Given the description of an element on the screen output the (x, y) to click on. 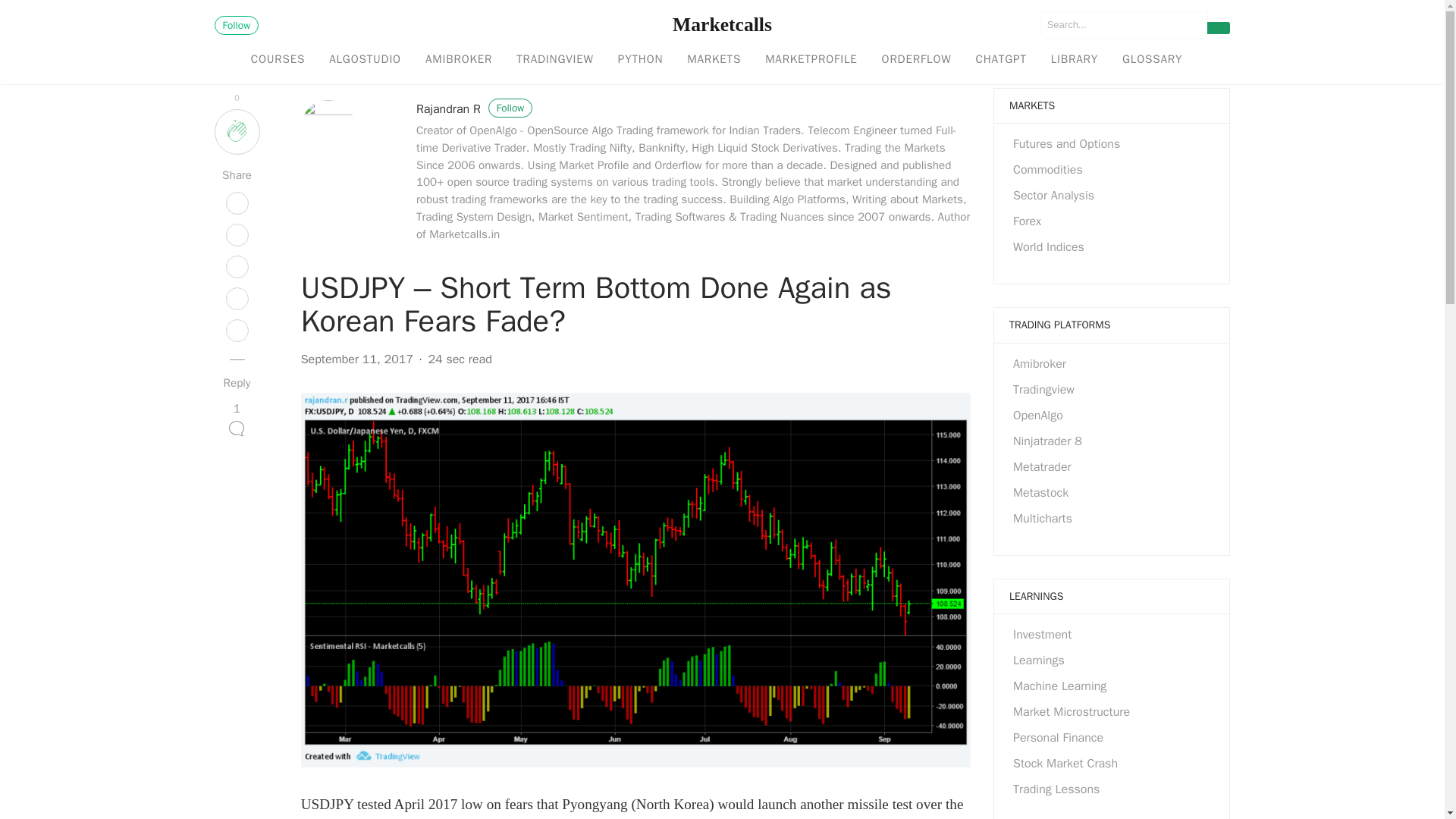
TRADINGVIEW (554, 59)
PYTHON (640, 59)
MARKETS (713, 59)
Futures and Options (1066, 143)
Search for: (1124, 24)
1 (236, 422)
LIBRARY (1074, 59)
AMIBROKER (458, 59)
Marketcalls (721, 24)
1 (236, 422)
Orderflow and Trading Tutorials (916, 59)
Market Profile and Trading Nuances (810, 59)
COURSES (277, 59)
GLOSSARY (1151, 59)
ALGOSTUDIO (365, 59)
